Given the description of an element on the screen output the (x, y) to click on. 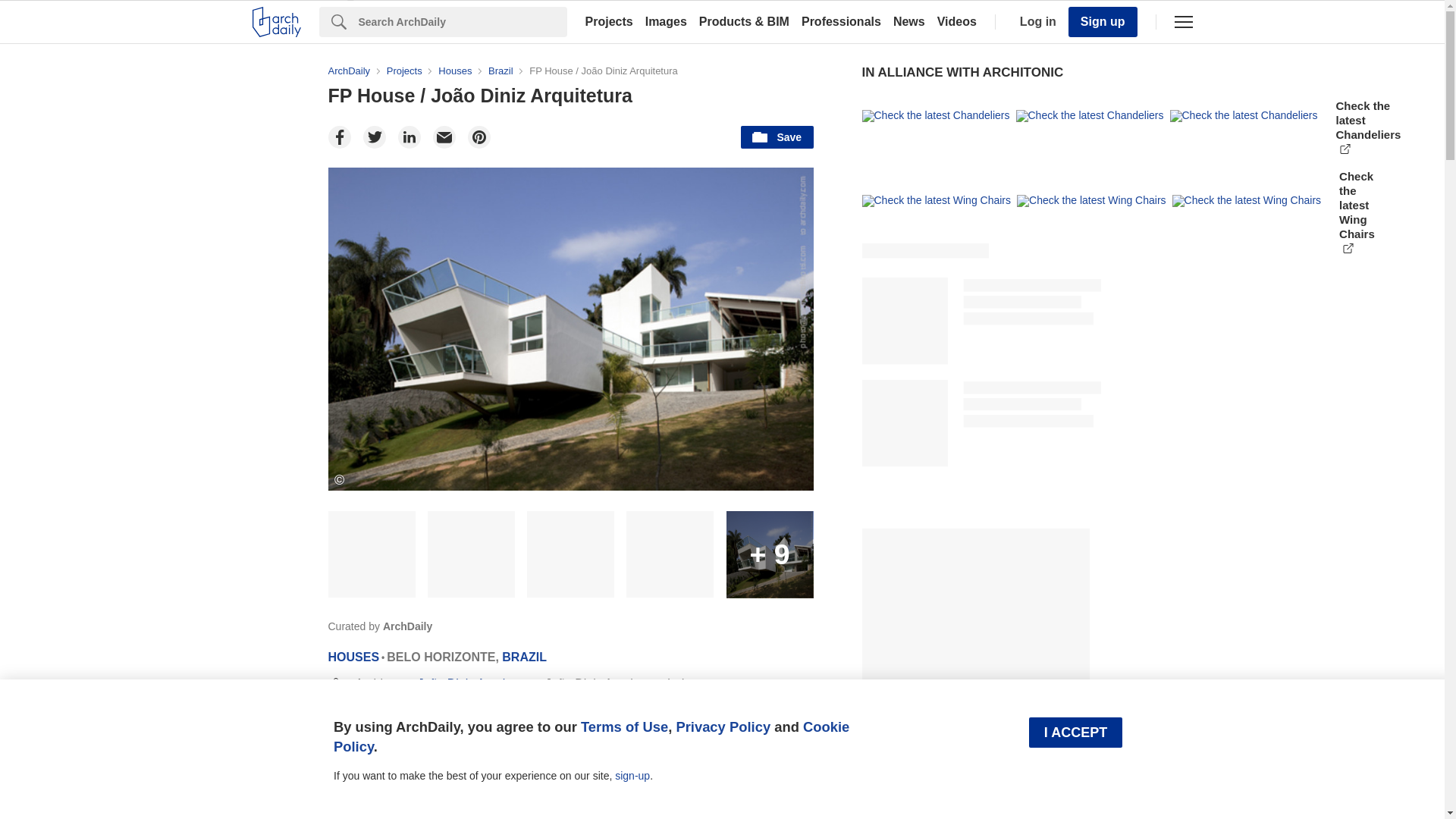
Projects (609, 21)
Videos (956, 21)
Log in (1035, 21)
Professionals (840, 21)
Images (666, 21)
News (908, 21)
Sign up (1102, 21)
